Given the description of an element on the screen output the (x, y) to click on. 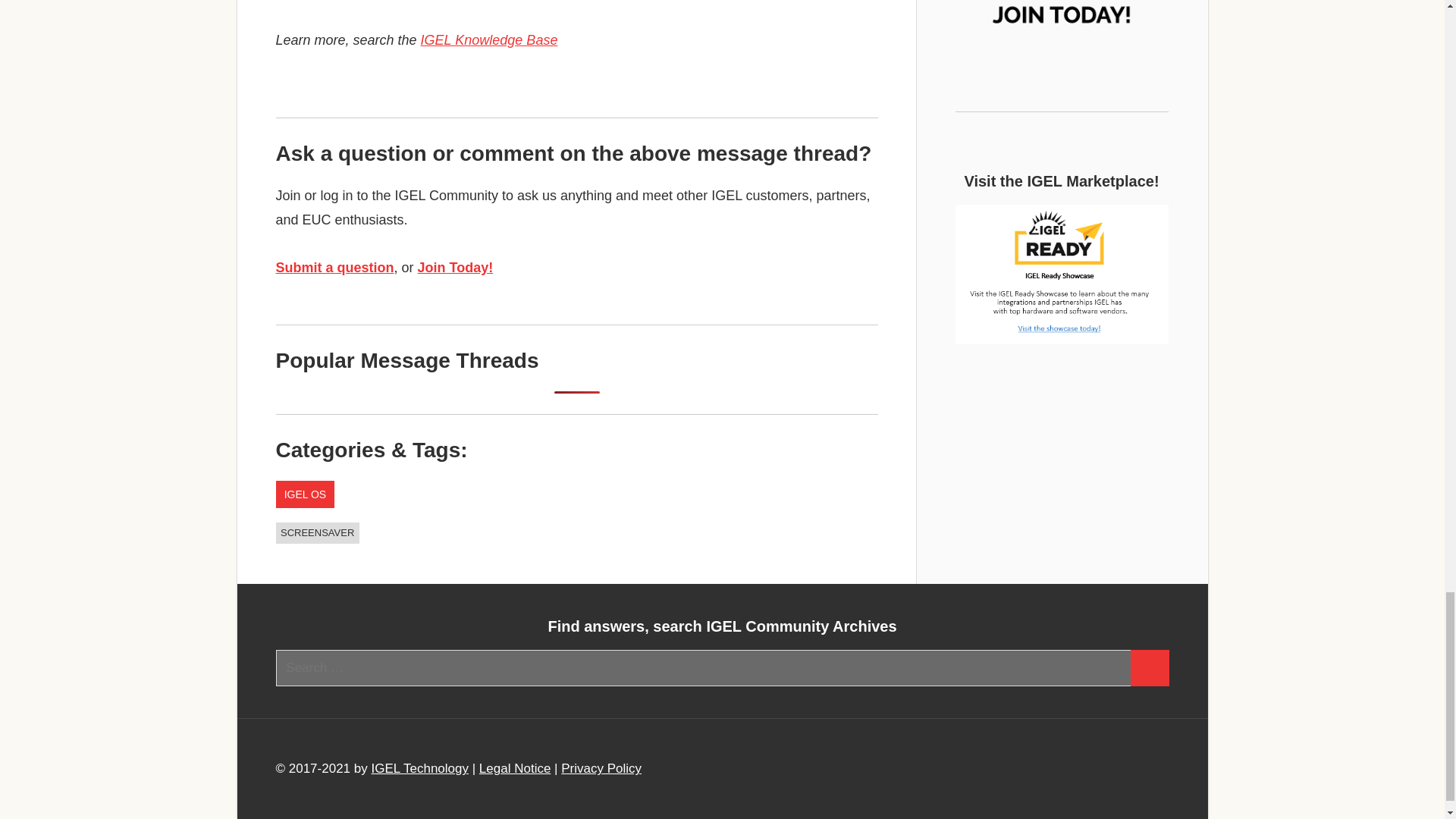
Search for: (704, 668)
Visit the IGEL Marketplace! (1062, 273)
